Given the description of an element on the screen output the (x, y) to click on. 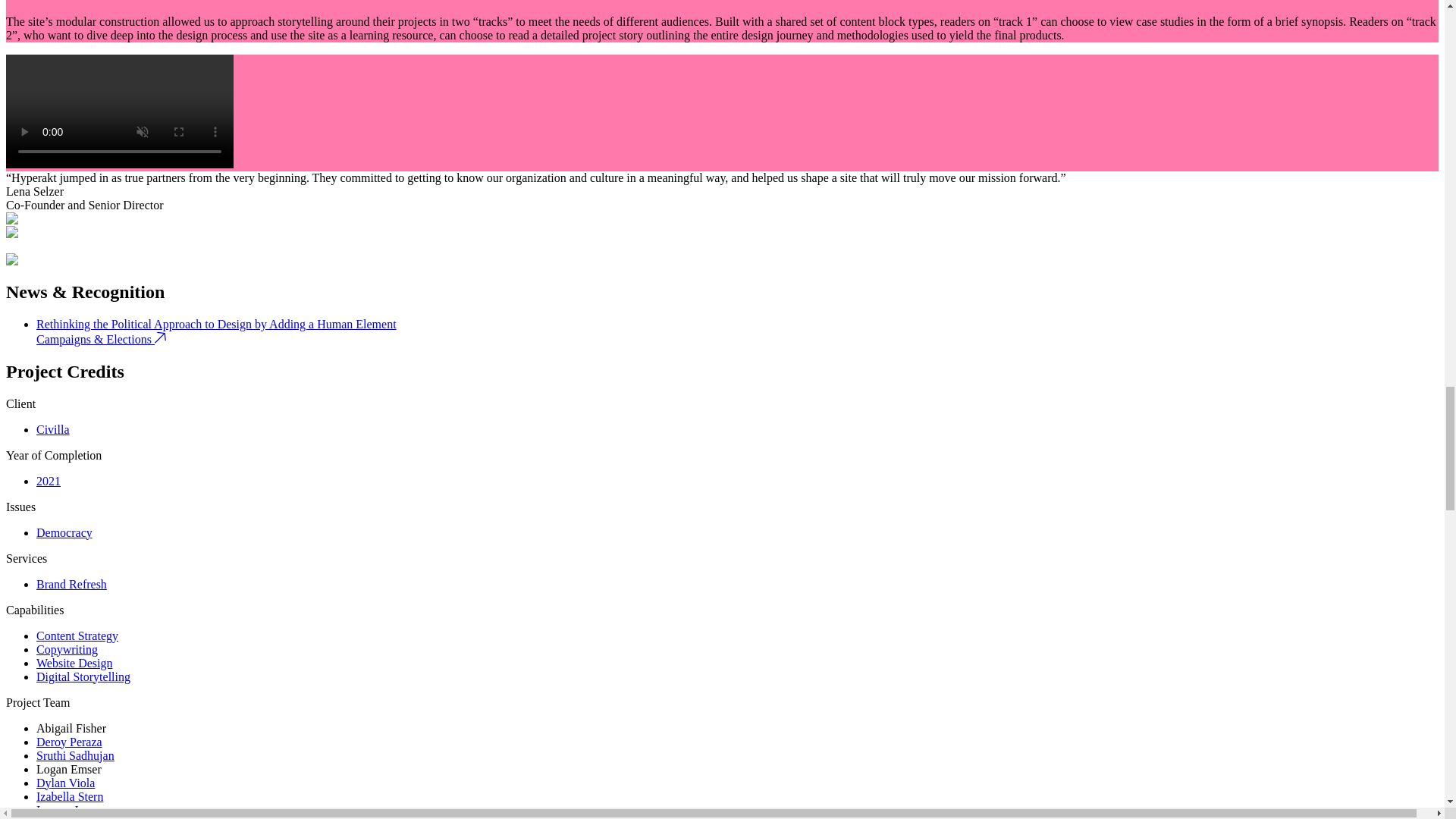
Digital Storytelling (83, 676)
Website Design (74, 662)
Civilla (52, 429)
Copywriting (66, 649)
Deroy Peraza (68, 741)
Dylan Viola (65, 782)
2021 (48, 481)
Content Strategy (76, 635)
Democracy (64, 532)
Brand Refresh (71, 584)
Sruthi Sadhujan (75, 755)
